Given the description of an element on the screen output the (x, y) to click on. 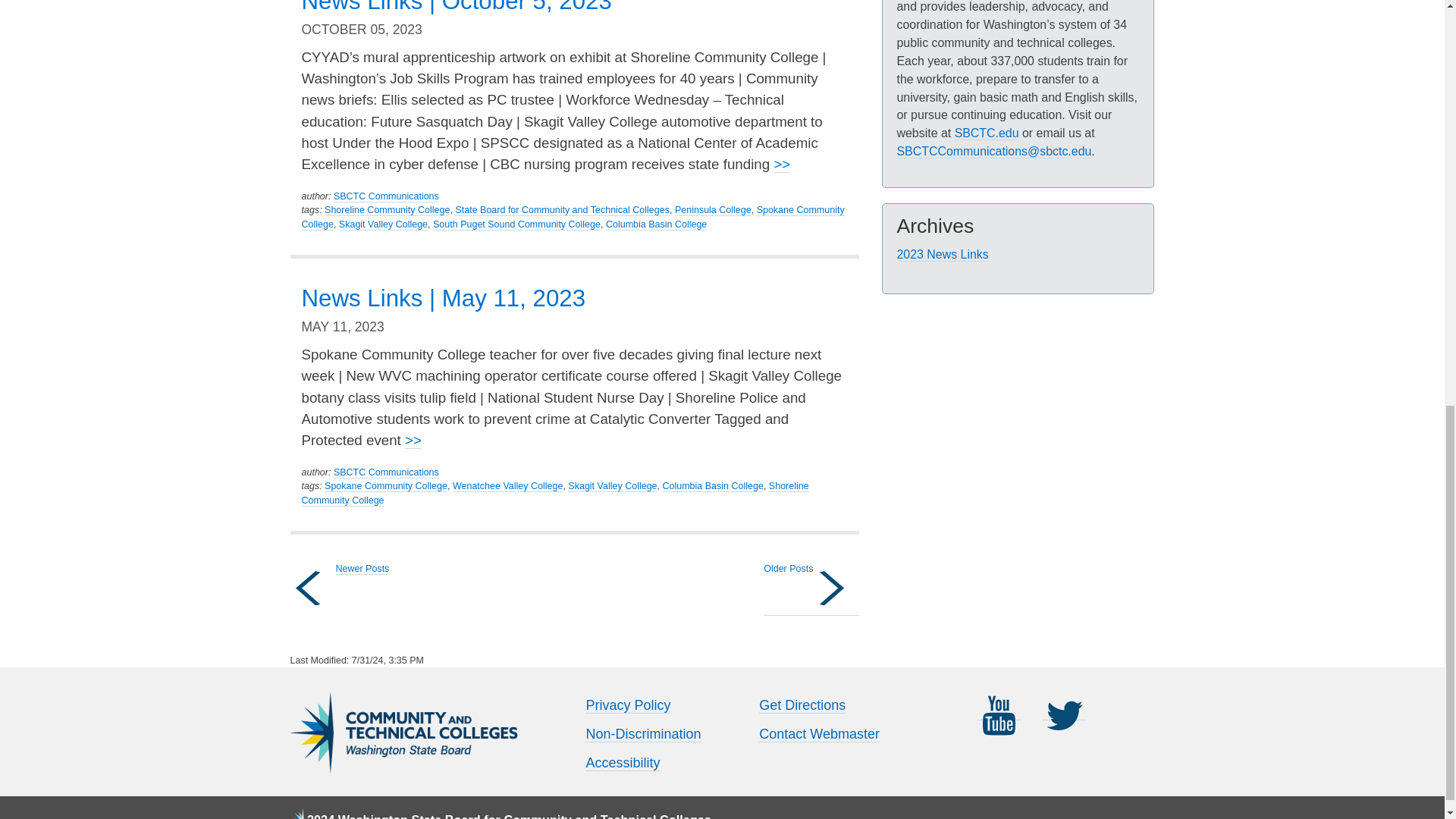
Peninsula College (713, 210)
Columbia Basin College (655, 224)
Shoreline Community College (386, 210)
Spokane Community College (572, 217)
State Board for Community and Technical Colleges (561, 210)
Skagit Valley College (383, 224)
South Puget Sound Community College (515, 224)
SBCTC Communications (386, 196)
